Given the description of an element on the screen output the (x, y) to click on. 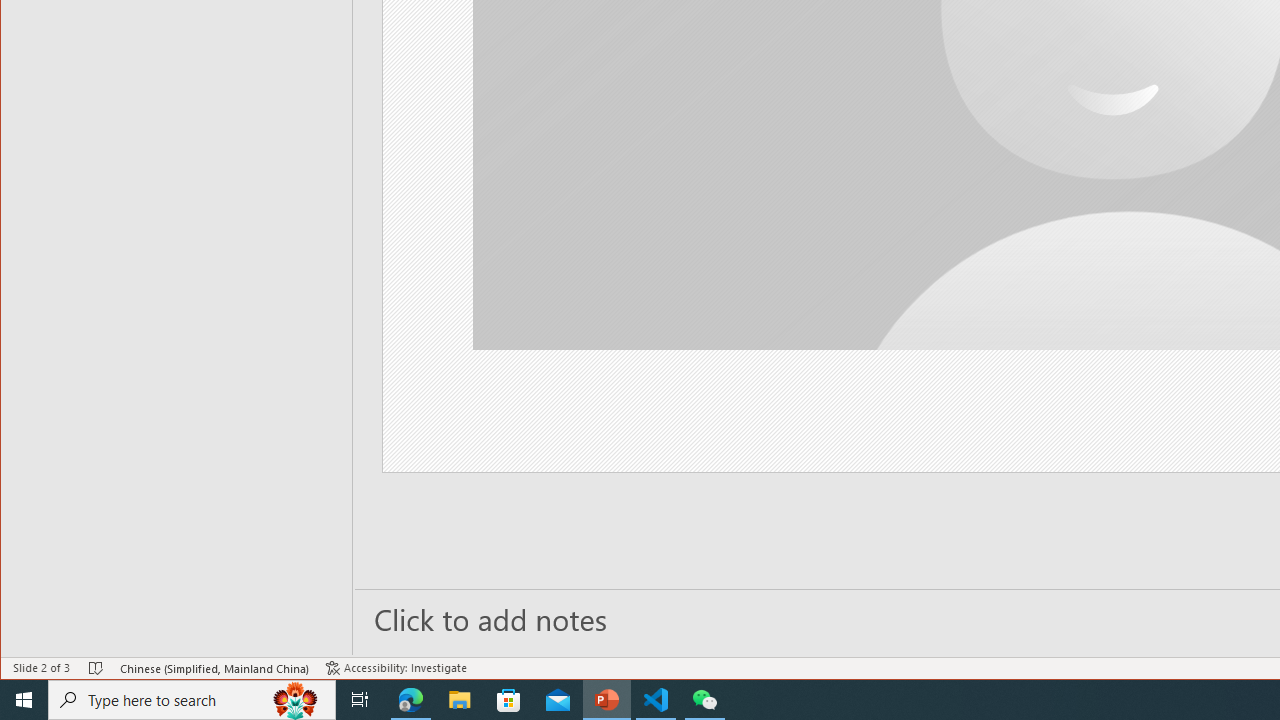
File Explorer (460, 699)
Visual Studio Code - 1 running window (656, 699)
Start (24, 699)
Task View (359, 699)
Spell Check No Errors (96, 668)
Search highlights icon opens search home window (295, 699)
Microsoft Edge - 1 running window (411, 699)
Microsoft Store (509, 699)
Type here to search (191, 699)
PowerPoint - 1 running window (607, 699)
Accessibility Checker Accessibility: Investigate (395, 668)
WeChat - 1 running window (704, 699)
